Given the description of an element on the screen output the (x, y) to click on. 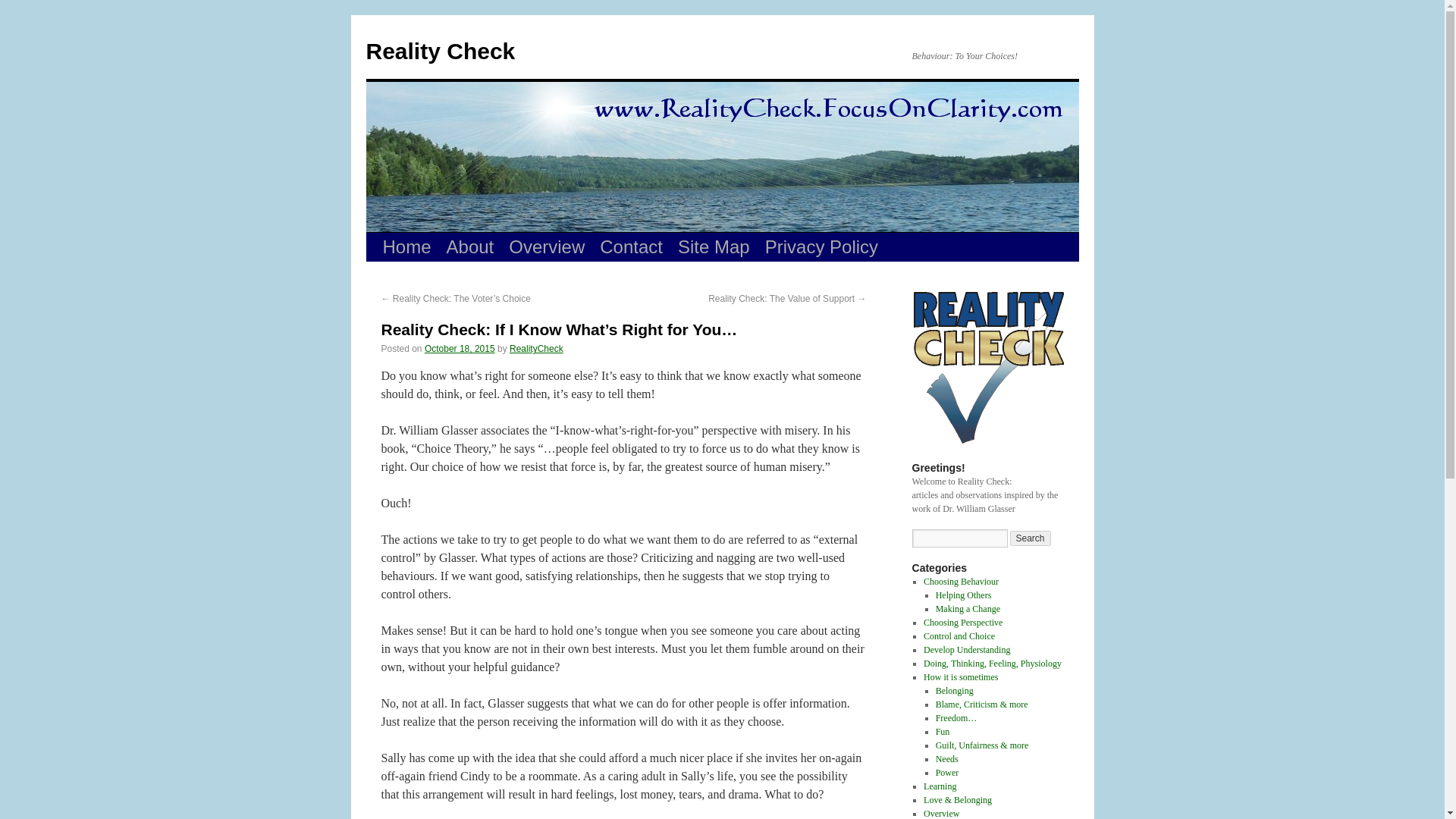
12:52 pm (460, 348)
Control and Choice (958, 635)
Contact (630, 246)
Choosing Behaviour (960, 581)
Helping Others (963, 594)
Search (1030, 538)
Learning (939, 786)
View all posts by RealityCheck (536, 348)
Needs (947, 758)
Develop Understanding (966, 649)
